Given the description of an element on the screen output the (x, y) to click on. 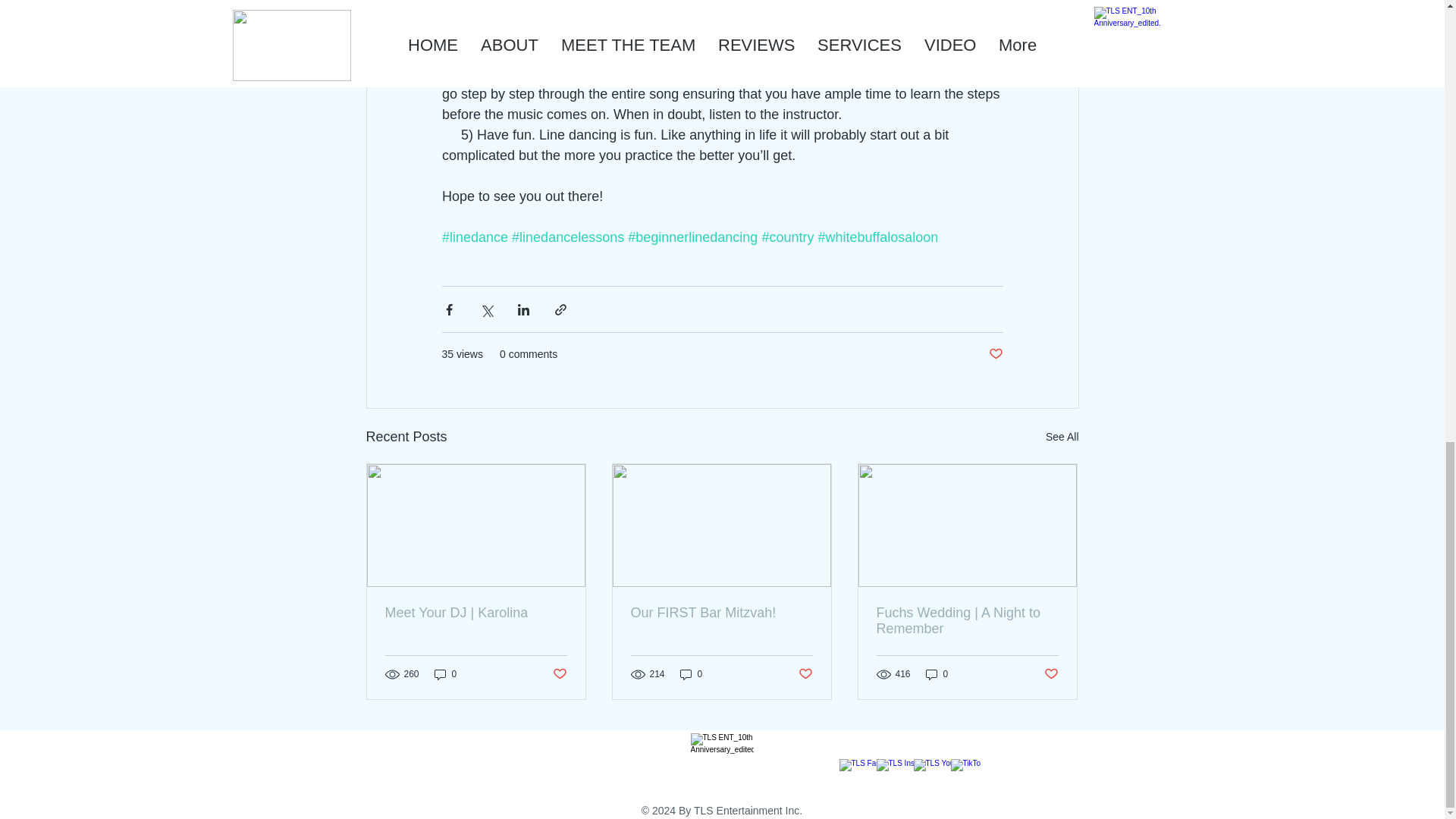
Post not marked as liked (804, 673)
Our FIRST Bar Mitzvah! (721, 612)
Post not marked as liked (995, 354)
0 (937, 674)
0 (445, 674)
Post not marked as liked (558, 673)
See All (1061, 436)
0 (691, 674)
